Given the description of an element on the screen output the (x, y) to click on. 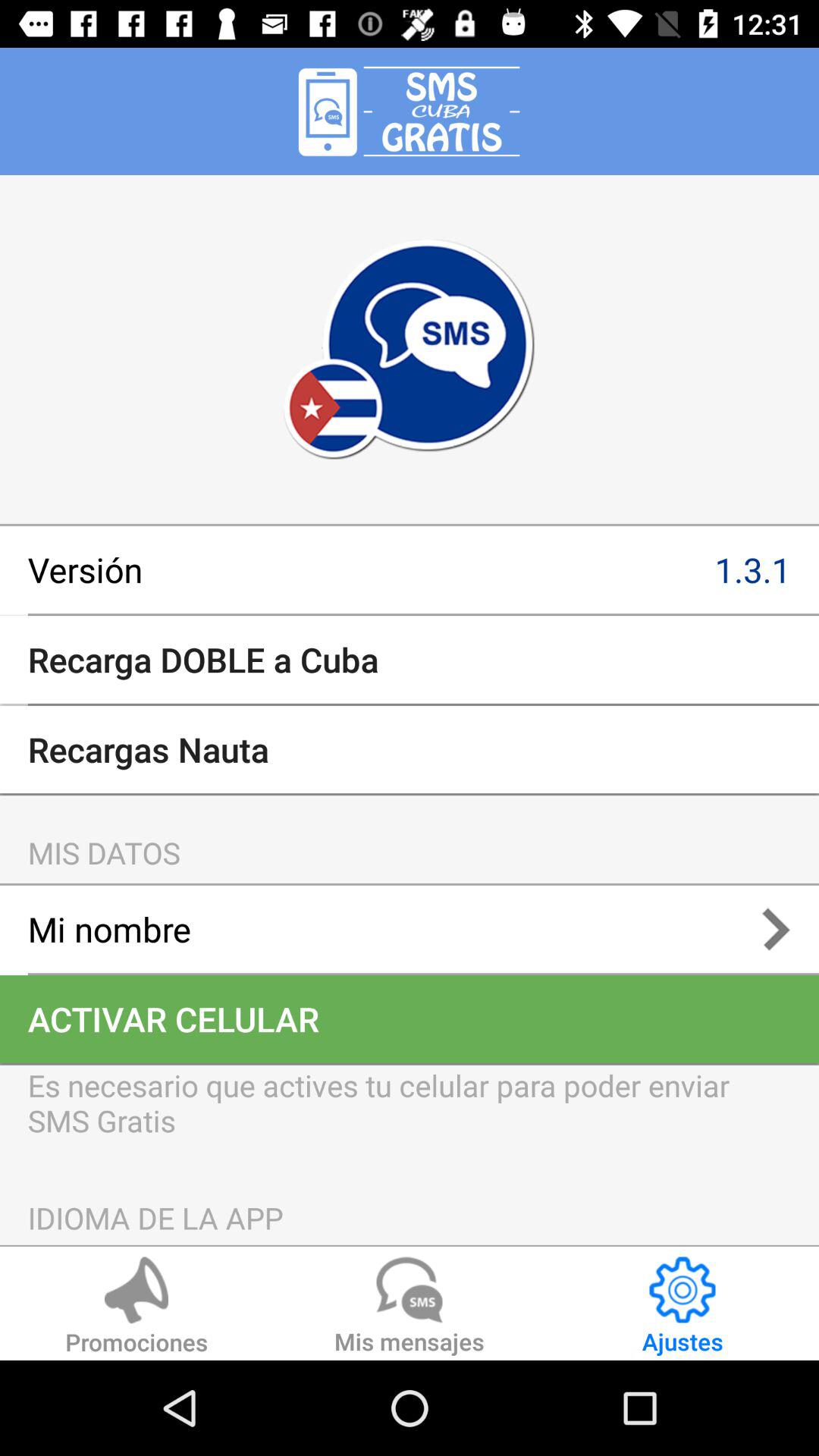
click the item to the right of the promociones icon (409, 1308)
